Given the description of an element on the screen output the (x, y) to click on. 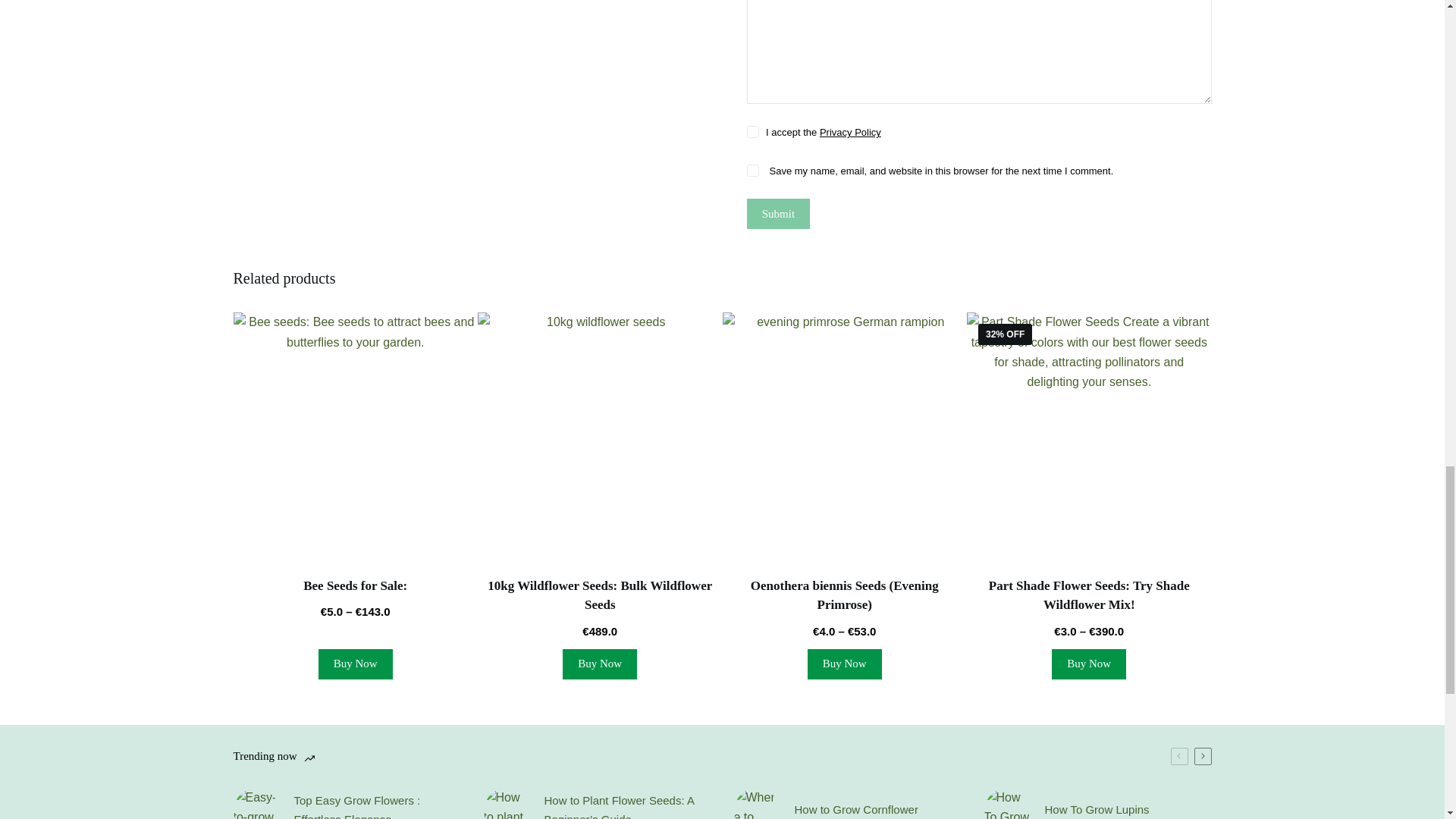
on (752, 132)
yes (752, 170)
